Given the description of an element on the screen output the (x, y) to click on. 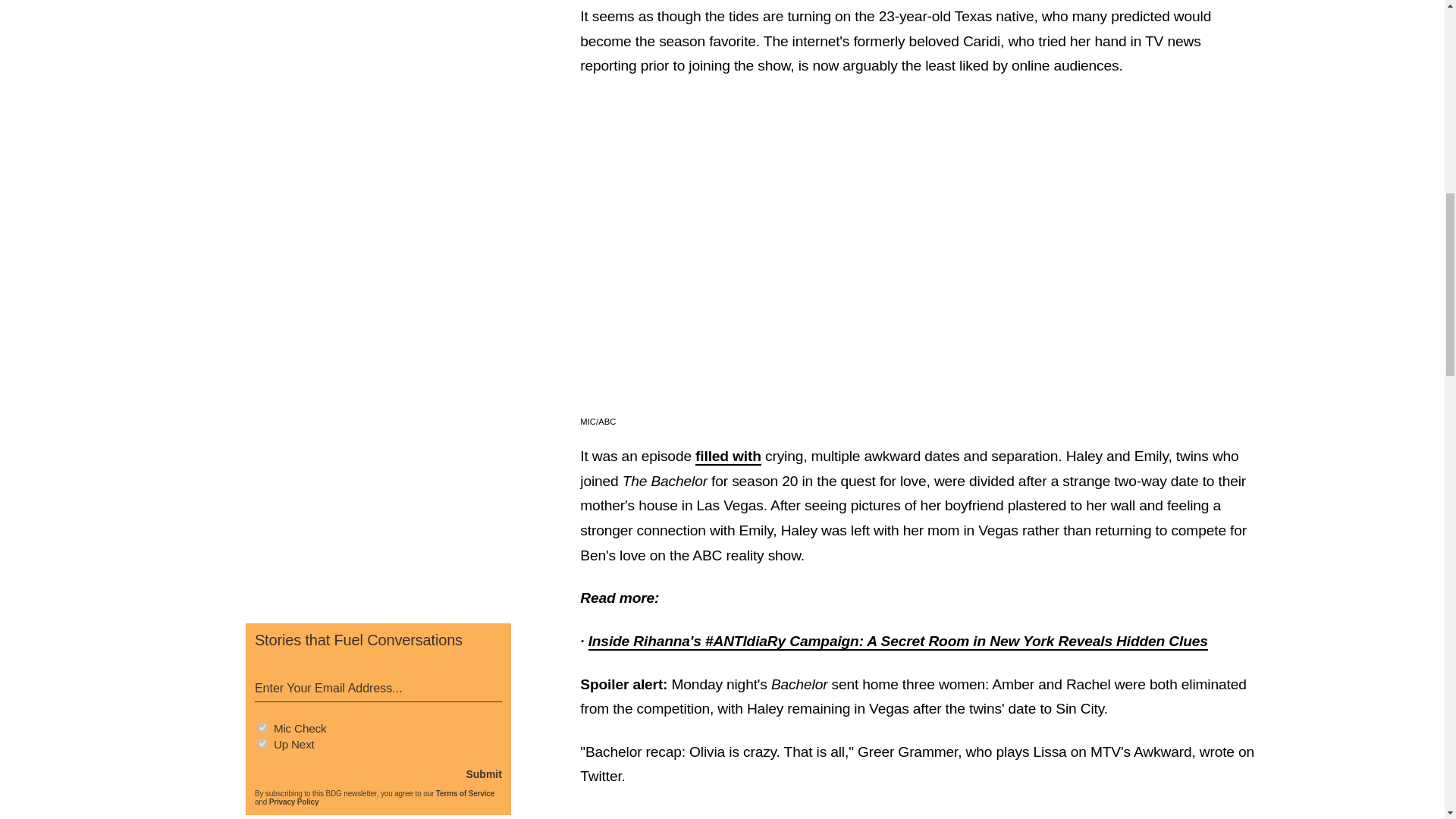
filled with (728, 456)
Terms of Service (465, 793)
Privacy Policy (293, 801)
Submit (482, 774)
